Given the description of an element on the screen output the (x, y) to click on. 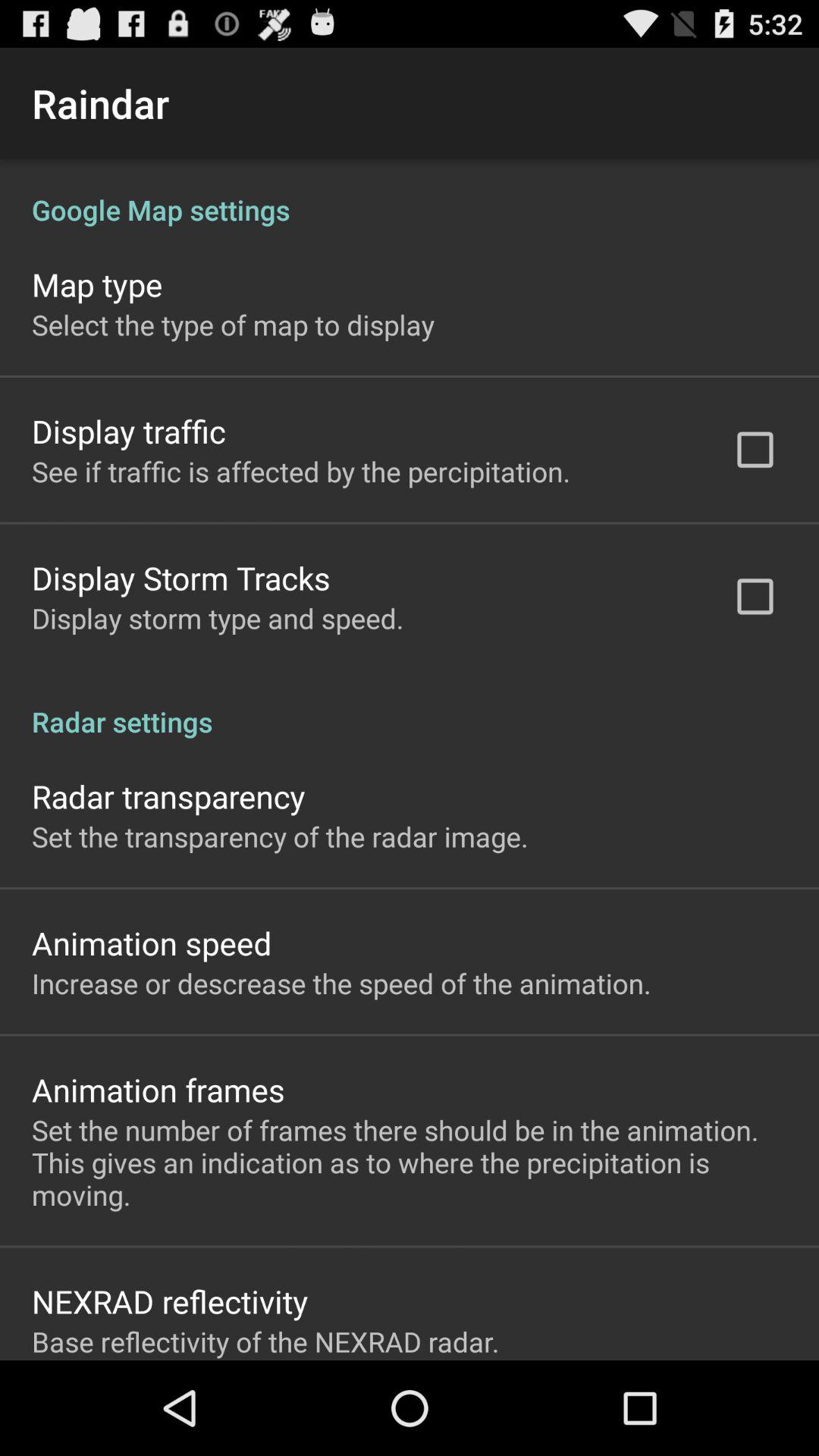
flip until base reflectivity of icon (265, 1341)
